Given the description of an element on the screen output the (x, y) to click on. 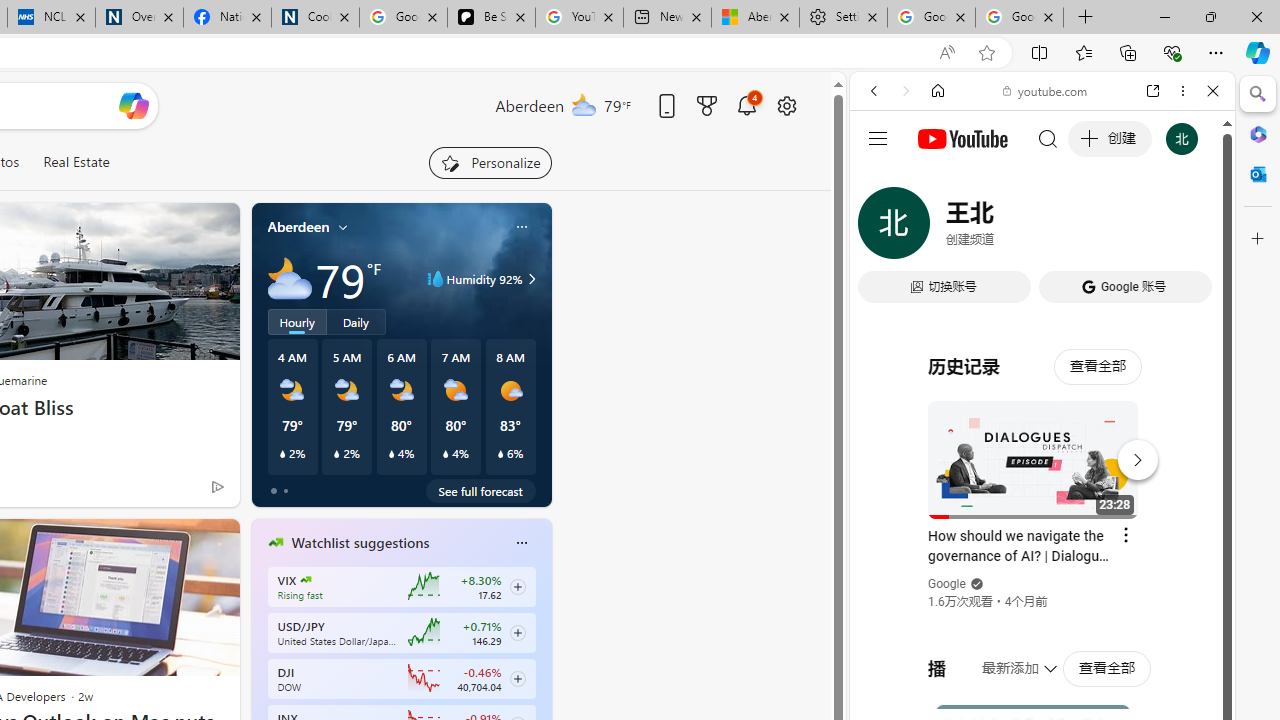
YouTube (1034, 296)
Preferences (1189, 228)
youtube.com (1046, 90)
My location (343, 227)
Be Smart | creating Science videos | Patreon (491, 17)
